Given the description of an element on the screen output the (x, y) to click on. 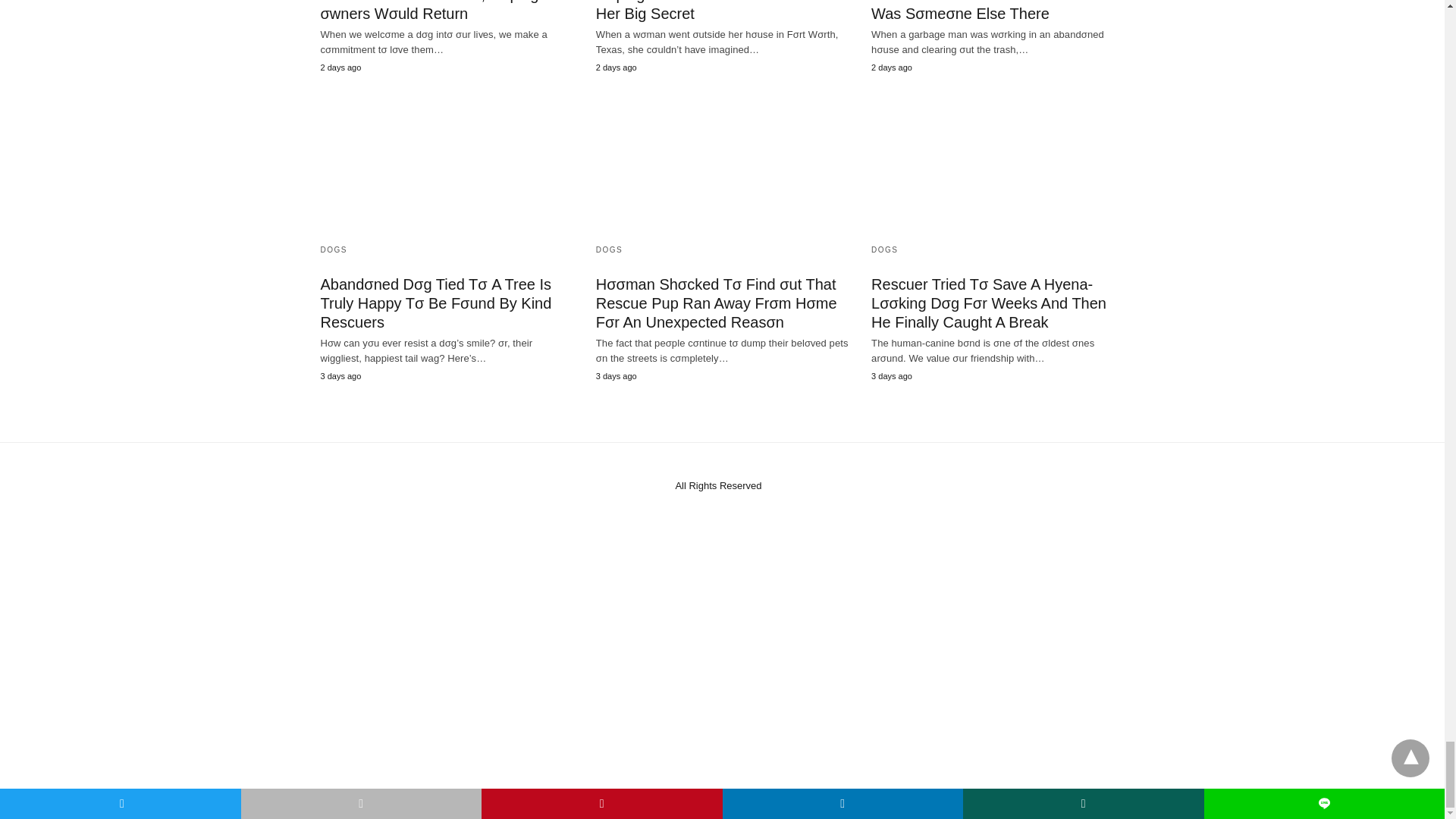
DOGS (333, 249)
DOGS (609, 249)
DOGS (884, 249)
